Given the description of an element on the screen output the (x, y) to click on. 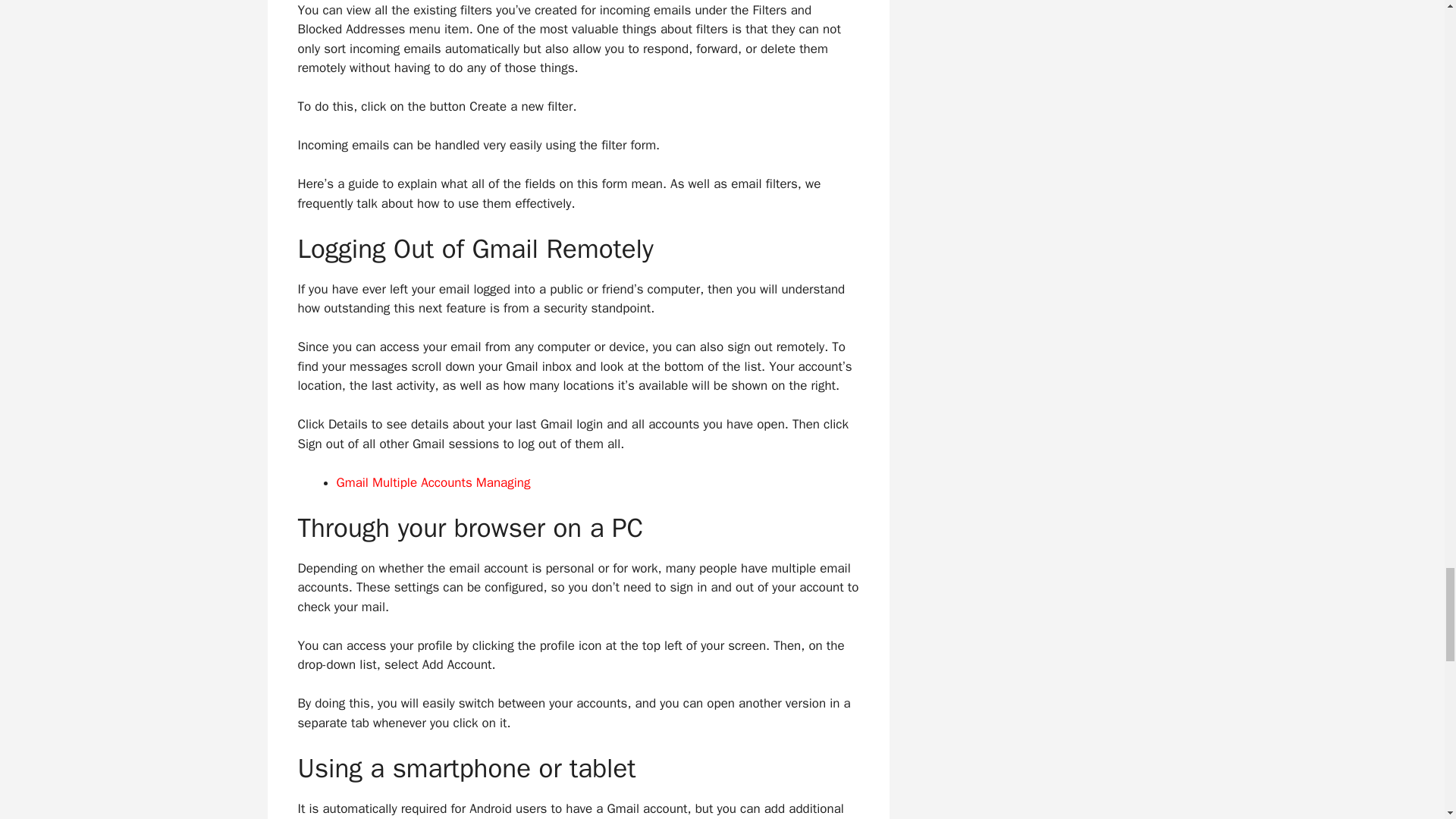
Gmail Multiple Accounts Managing (433, 482)
